Given the description of an element on the screen output the (x, y) to click on. 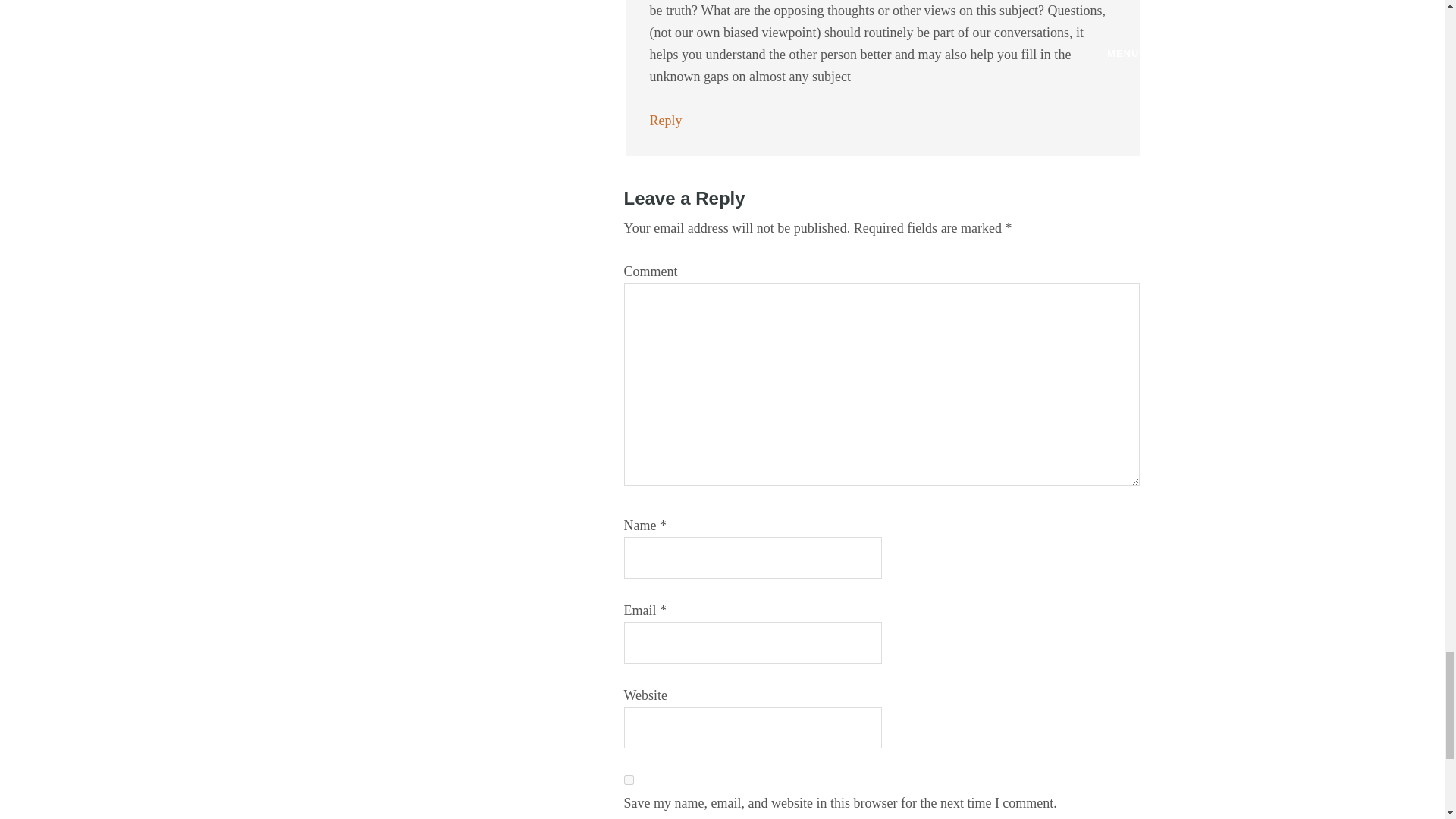
yes (628, 779)
Reply (665, 120)
